Given the description of an element on the screen output the (x, y) to click on. 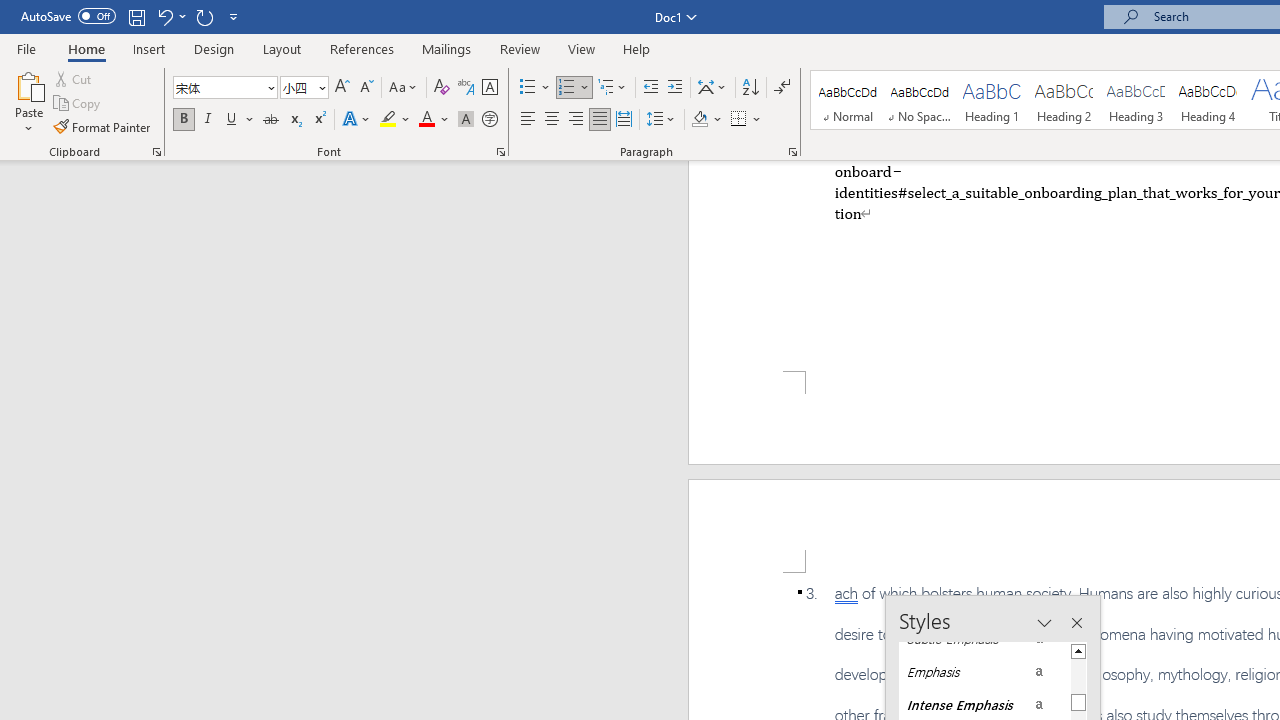
Font Color Automatic (426, 119)
Subtle Emphasis (984, 638)
